Given the description of an element on the screen output the (x, y) to click on. 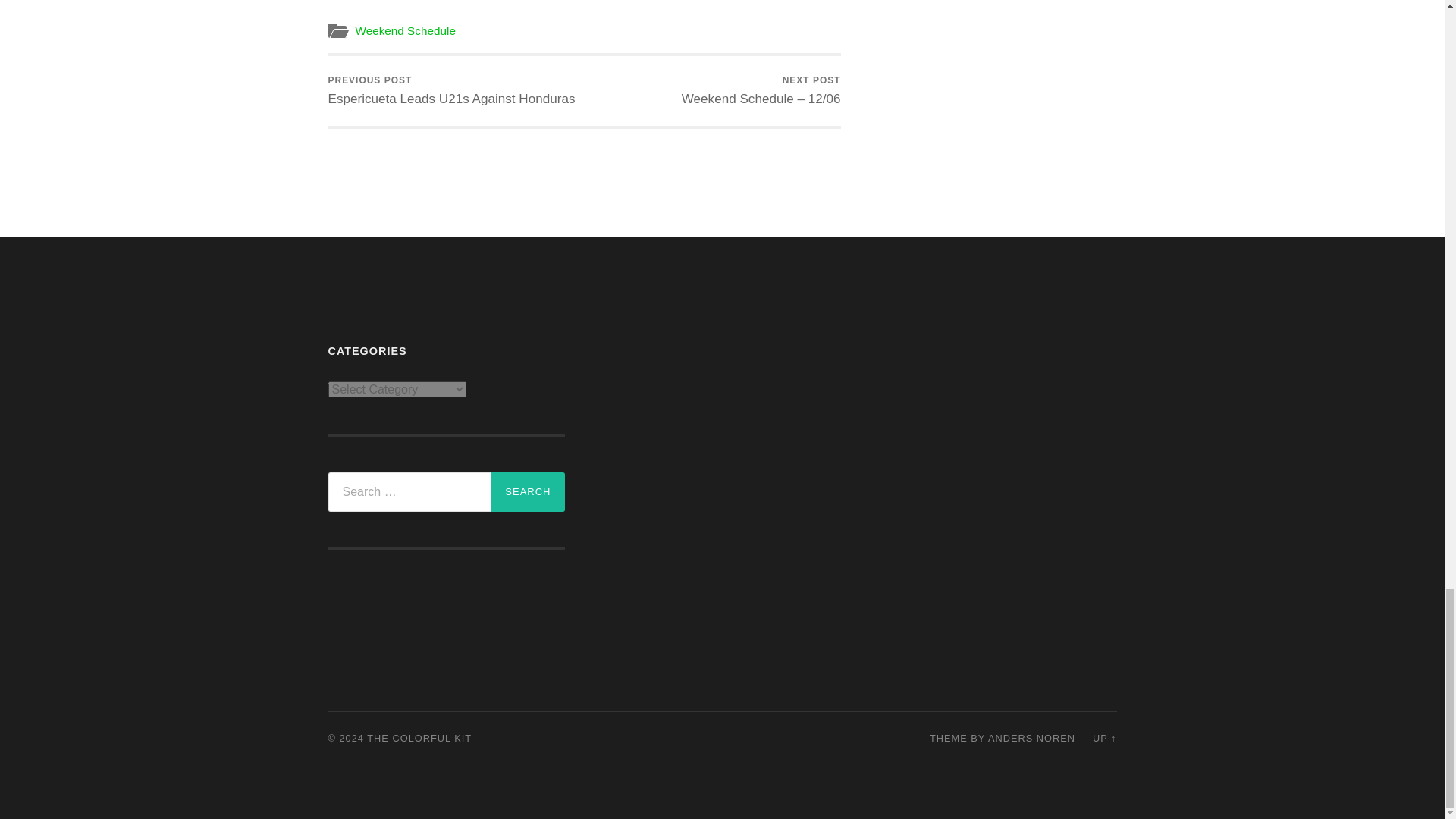
THE COLORFUL KIT (418, 737)
Search (528, 491)
Search (528, 491)
To the top (1104, 737)
Weekend Schedule (404, 30)
Search (451, 90)
ANDERS NOREN (528, 491)
